Given the description of an element on the screen output the (x, y) to click on. 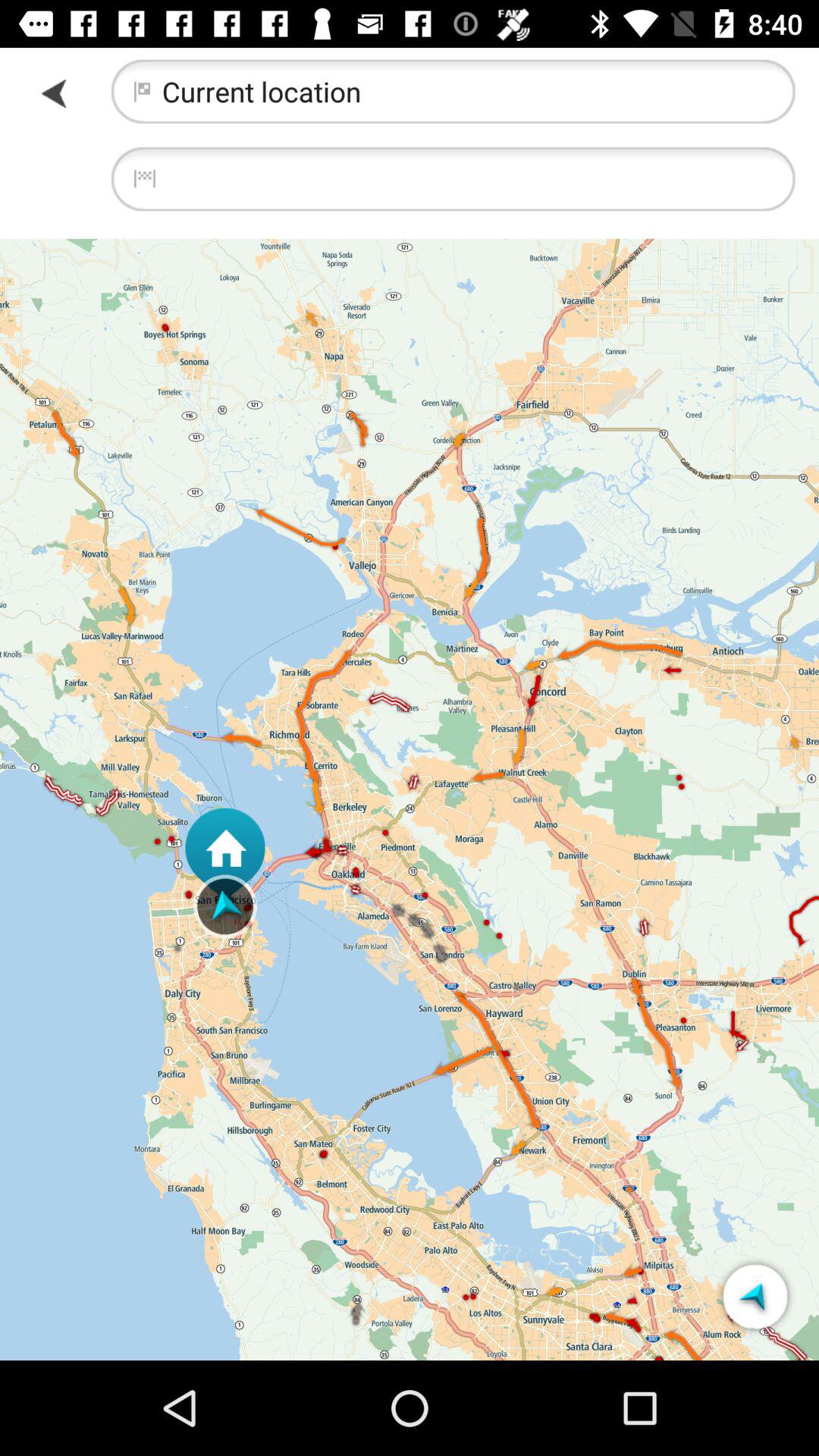
go back (55, 92)
